Given the description of an element on the screen output the (x, y) to click on. 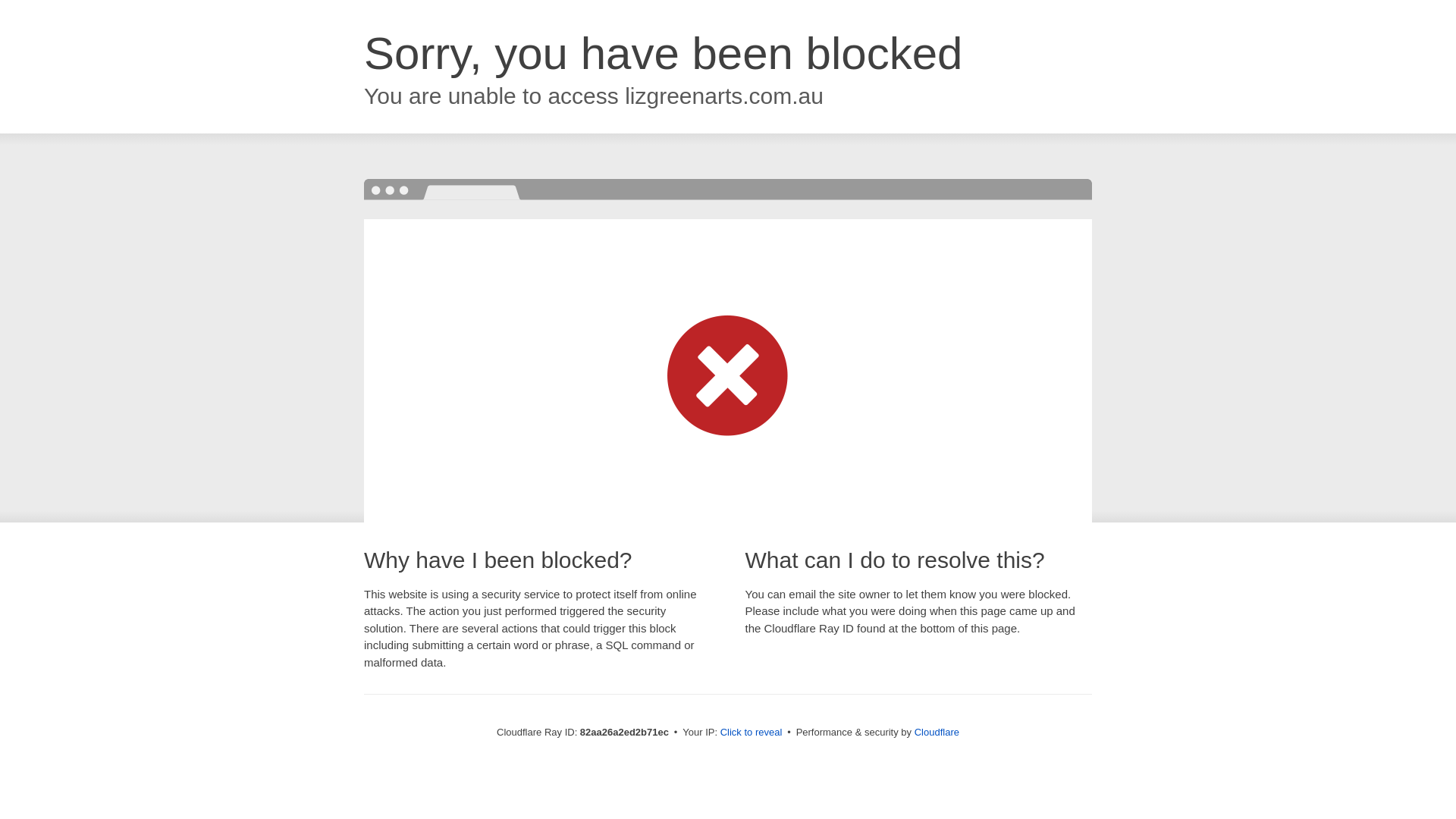
Click to reveal Element type: text (751, 732)
Cloudflare Element type: text (936, 731)
